Given the description of an element on the screen output the (x, y) to click on. 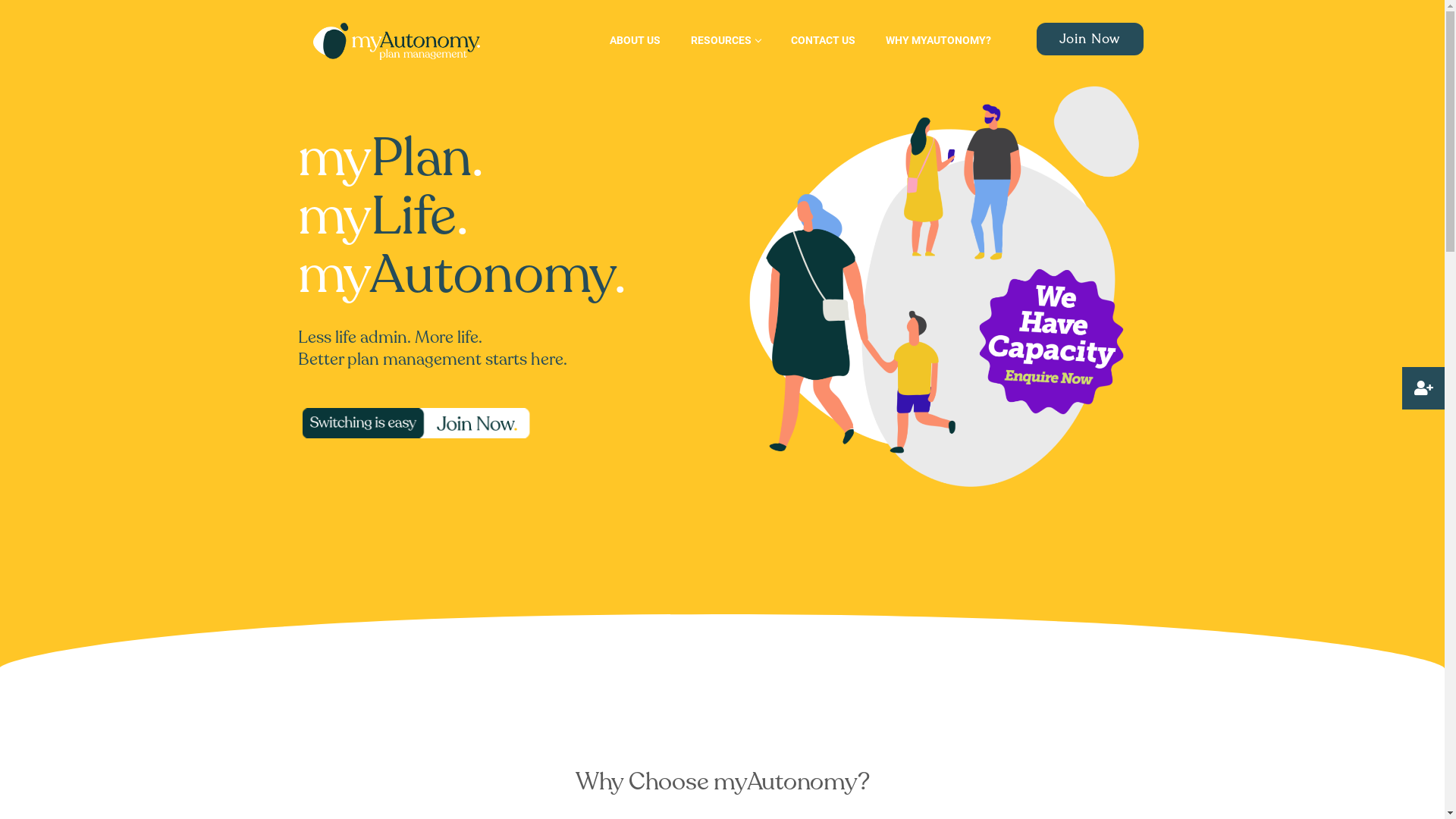
SIE_JN_BUTTON Element type: hover (417, 423)
RESOURCES Element type: text (725, 40)
CONTACT US Element type: text (822, 40)
WHY MYAUTONOMY? Element type: text (938, 40)
Join Now Element type: text (1089, 38)
ABOUT US Element type: text (634, 40)
